Given the description of an element on the screen output the (x, y) to click on. 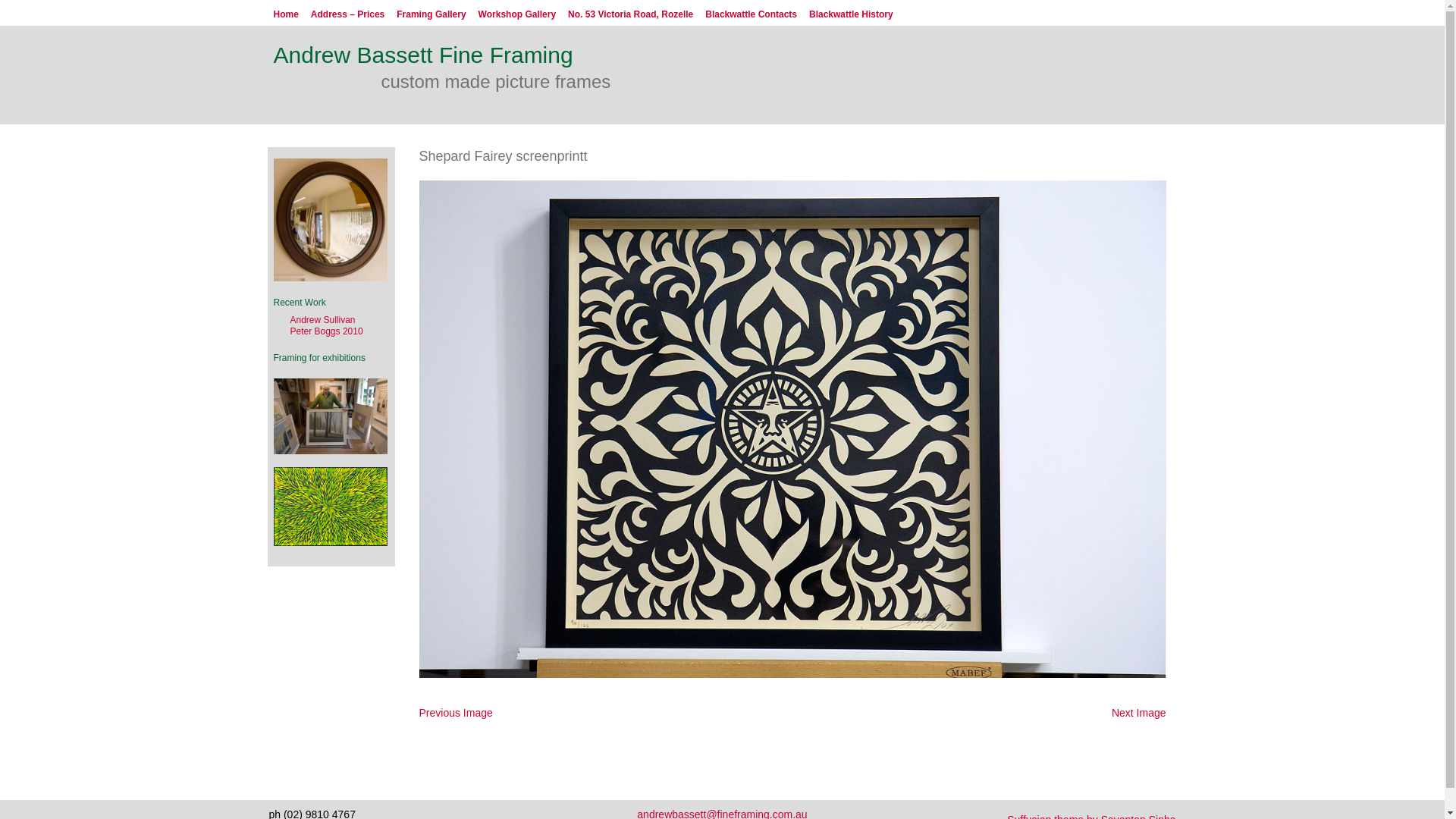
Peter Boggs 2010 Element type: text (325, 331)
Andrew Sullivan Element type: text (321, 319)
Workshop Gallery Element type: text (516, 13)
No. 53 Victoria Road, Rozelle Element type: text (630, 13)
Blackwattle Contacts Element type: text (751, 13)
Framing Gallery Element type: text (430, 13)
Previous Image Element type: text (455, 712)
Blackwattle History Element type: text (851, 13)
Home Element type: text (285, 13)
Andrew Bassett Fine Framing Element type: text (422, 54)
Next Image Element type: text (1138, 712)
